Given the description of an element on the screen output the (x, y) to click on. 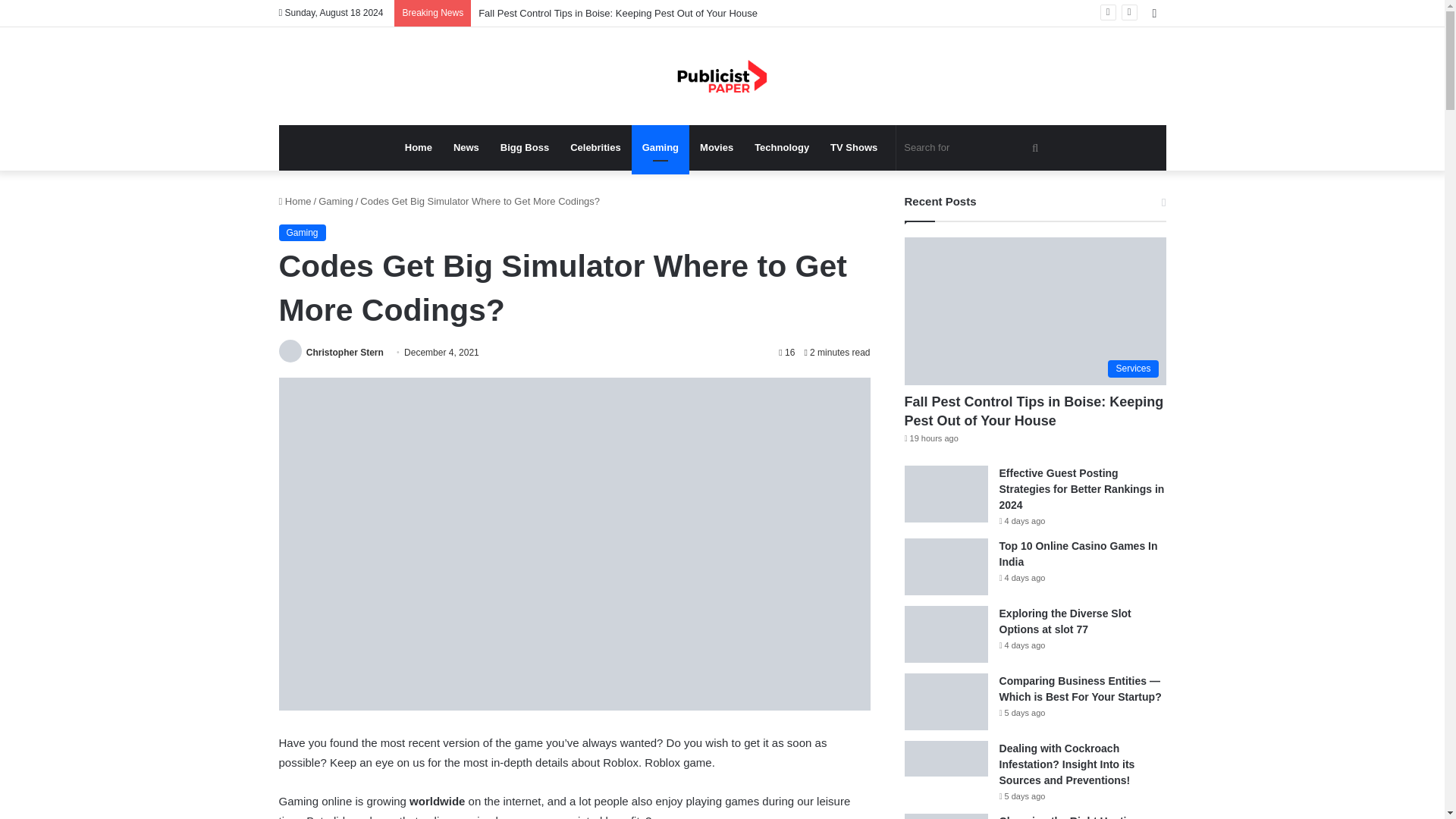
Publicist Paper (721, 76)
Gaming (302, 232)
Christopher Stern (344, 352)
TV Shows (853, 147)
Movies (716, 147)
Home (295, 201)
Christopher Stern (344, 352)
Bigg Boss (524, 147)
Celebrities (594, 147)
